Given the description of an element on the screen output the (x, y) to click on. 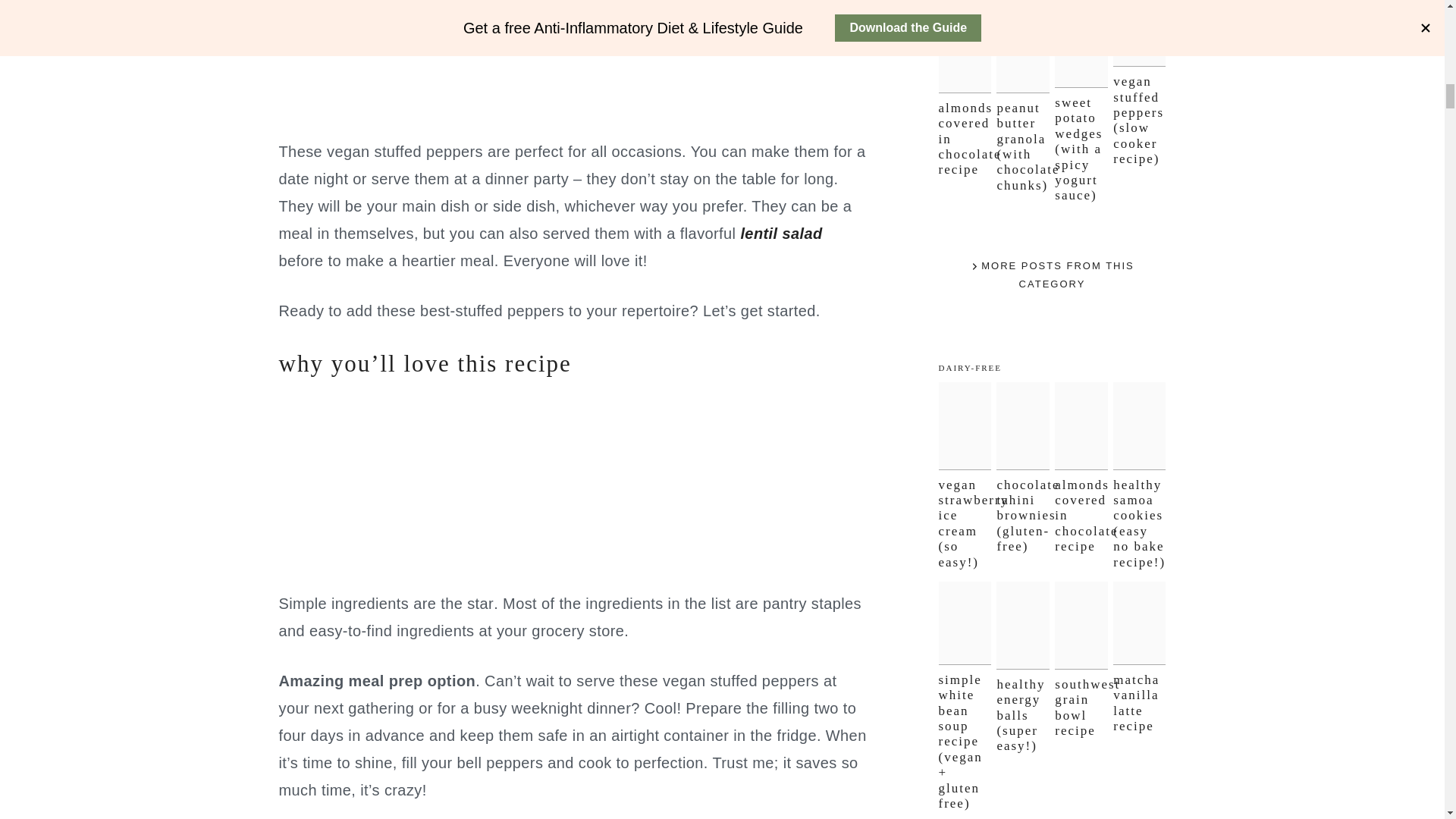
lentil salad (780, 233)
